Given the description of an element on the screen output the (x, y) to click on. 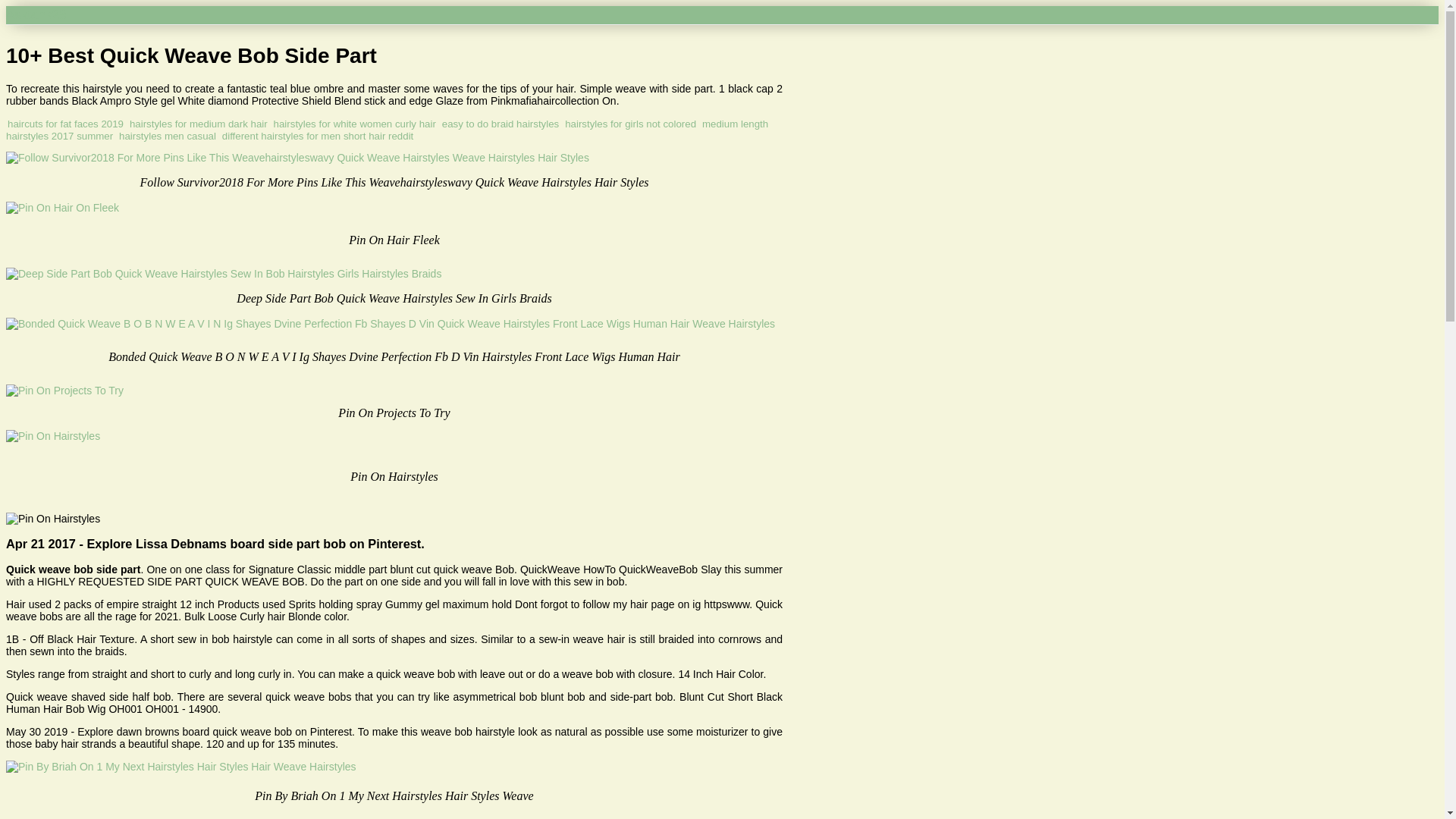
Asktank28 (35, 14)
hairstyles for white women curly hair (354, 123)
different hairstyles for men short hair reddit (317, 135)
easy to do braid hairstyles (500, 123)
Asktank28 (35, 14)
hairstyles for medium dark hair (198, 123)
haircuts for fat faces 2019 (65, 123)
medium length hairstyles 2017 summer (386, 129)
hairstyles for girls not colored (629, 123)
hairstyles men casual (167, 135)
